Given the description of an element on the screen output the (x, y) to click on. 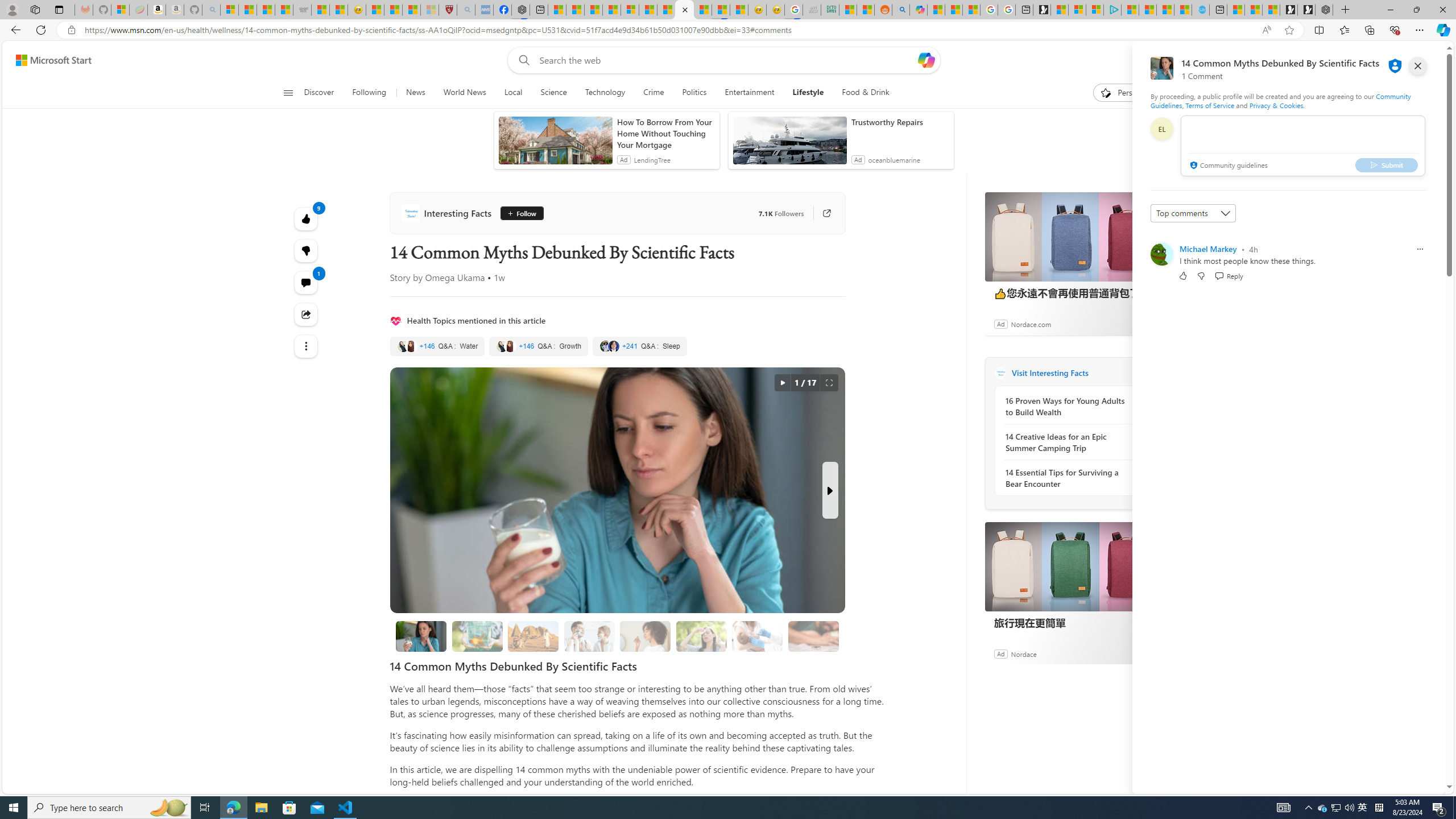
Entertainment (748, 92)
Science (553, 92)
Microsoft rewards (1374, 60)
Lifestyle (807, 92)
Report comment (1419, 249)
Recipes - MSN (374, 9)
Michael Markey (1208, 248)
